Given the description of an element on the screen output the (x, y) to click on. 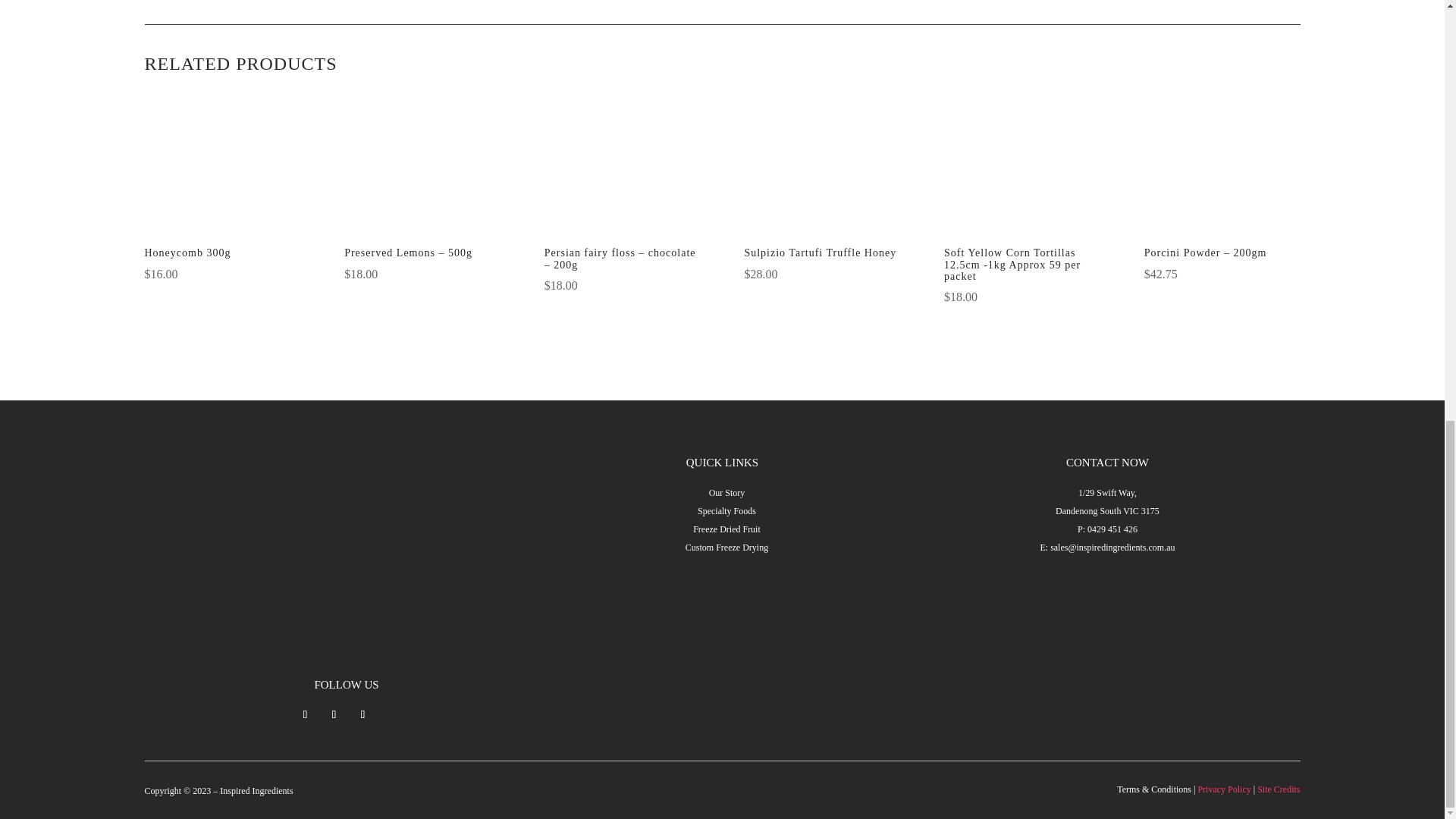
Follow on LinkedIn (362, 713)
Custom Freeze Drying (726, 547)
Specialty Foods (726, 511)
Site Credits (1278, 788)
Privacy Policy (1223, 788)
Follow on Instagram (333, 713)
Our Story (727, 492)
Follow on Facebook (304, 713)
0429 451 426 (1112, 529)
Freeze Dried Fruit (726, 529)
